Given the description of an element on the screen output the (x, y) to click on. 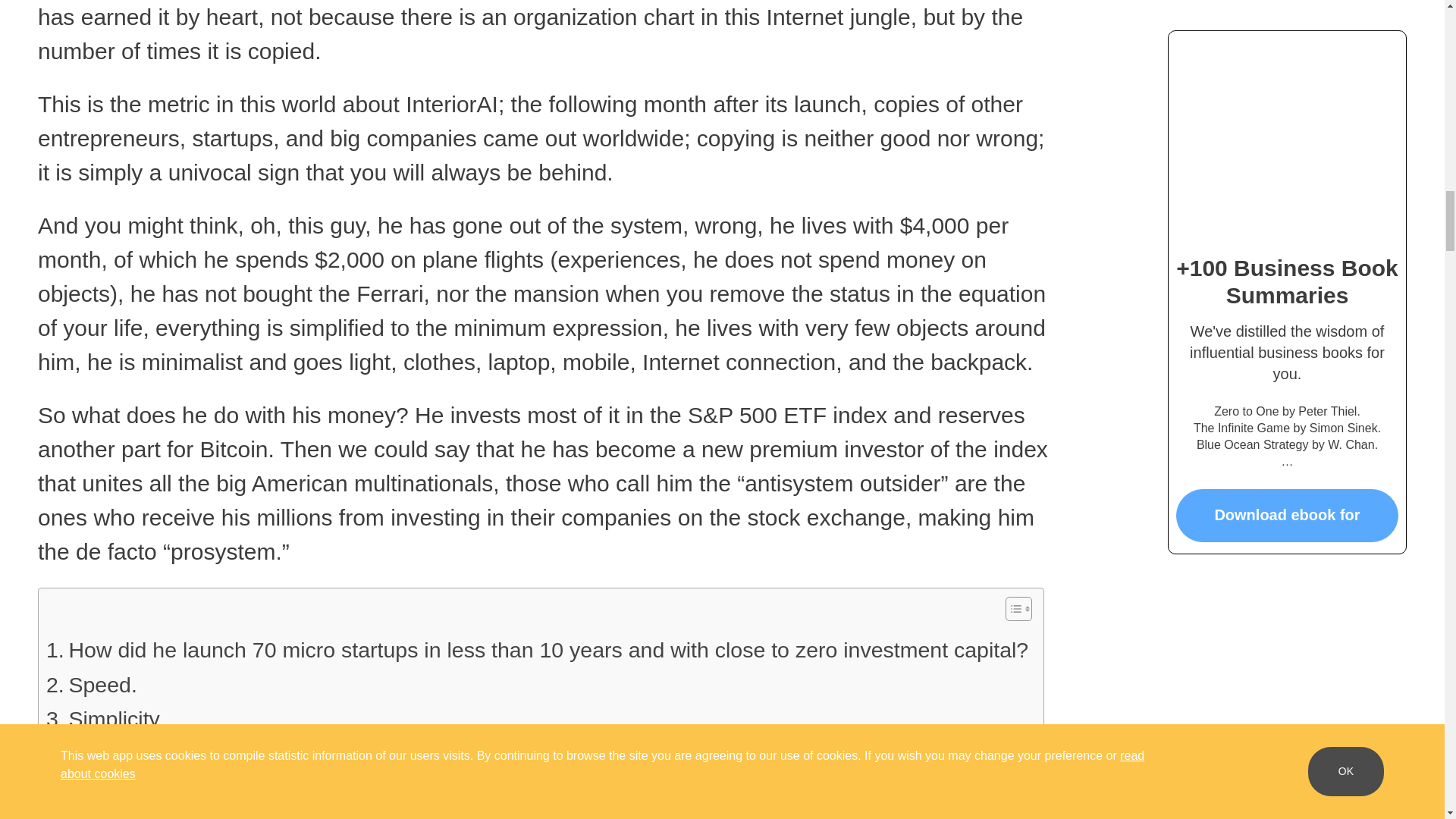
Resilience. (110, 754)
Speed. (91, 685)
Simplicity. (105, 719)
Speed. (91, 685)
Autonomy. (108, 788)
Automation. (115, 812)
Autonomy. (108, 788)
Resilience. (110, 754)
Simplicity. (105, 719)
Automation. (115, 812)
